Given the description of an element on the screen output the (x, y) to click on. 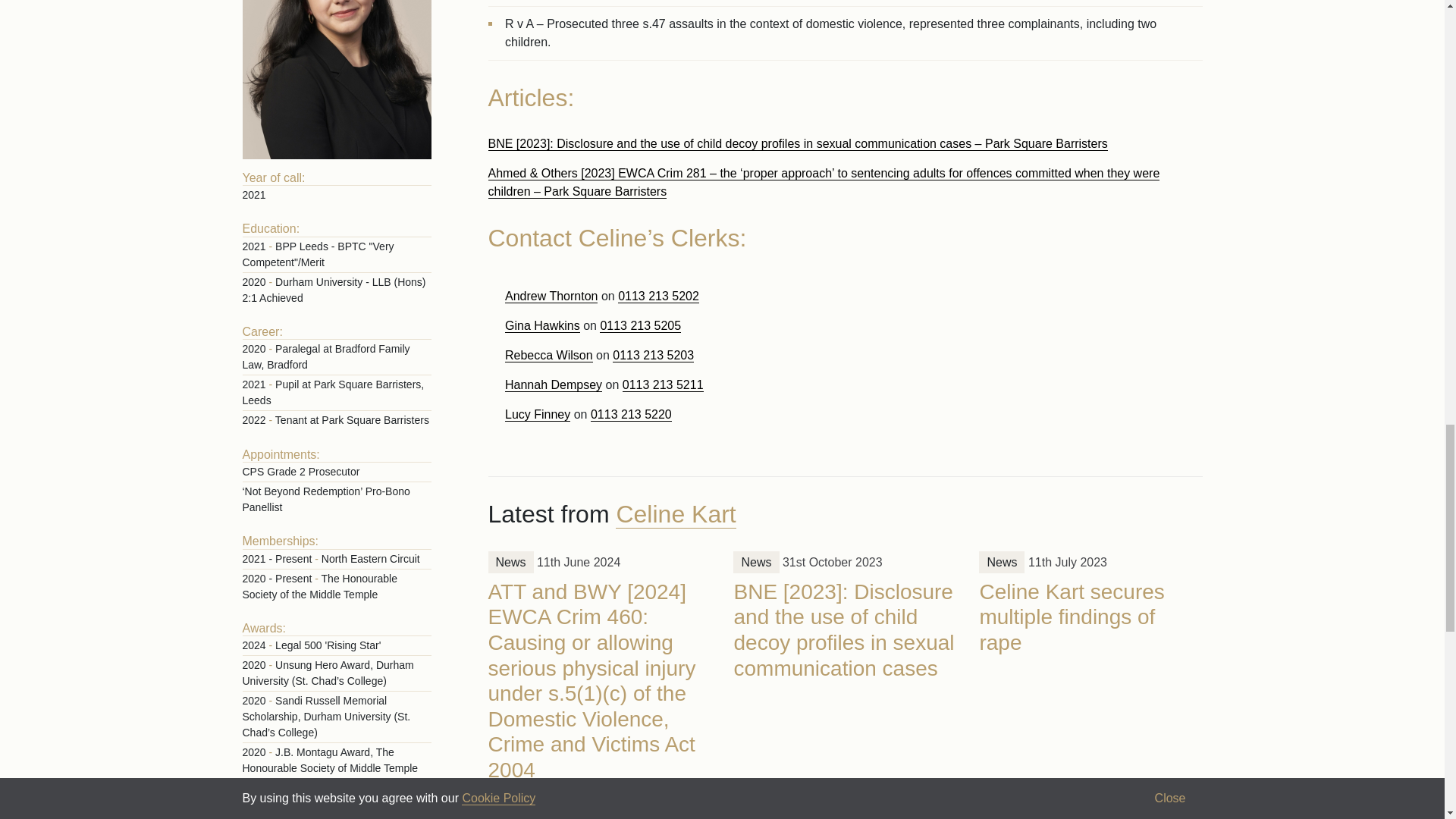
Permalink to Celine Kart secures multiple findings of rape (1070, 616)
